Given the description of an element on the screen output the (x, y) to click on. 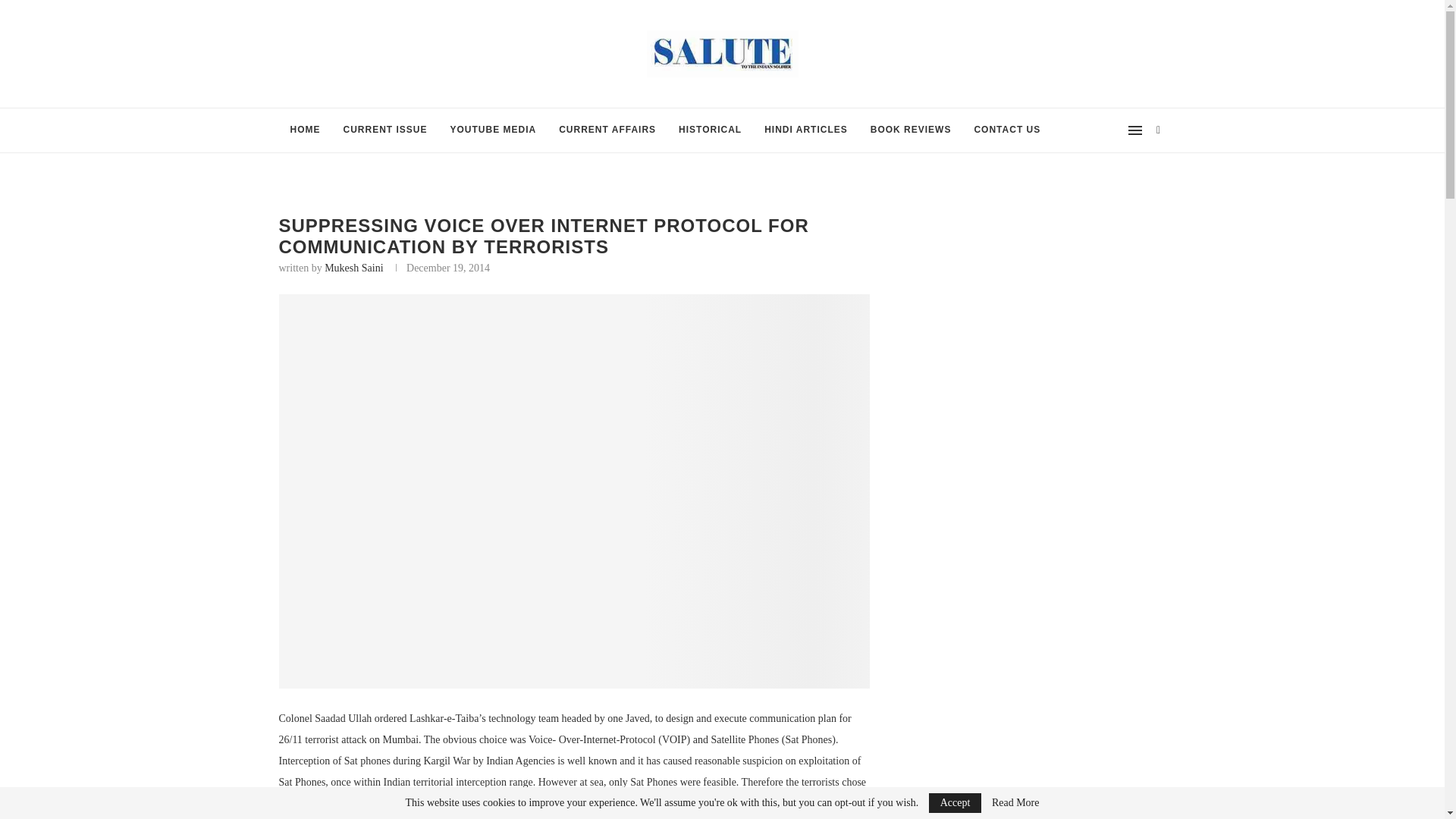
YOUTUBE MEDIA (493, 130)
BOOK REVIEWS (910, 130)
HISTORICAL (709, 130)
CURRENT AFFAIRS (606, 130)
HINDI ARTICLES (805, 130)
Mukesh Saini (353, 267)
HOME (305, 130)
CURRENT ISSUE (385, 130)
CONTACT US (1006, 130)
